Given the description of an element on the screen output the (x, y) to click on. 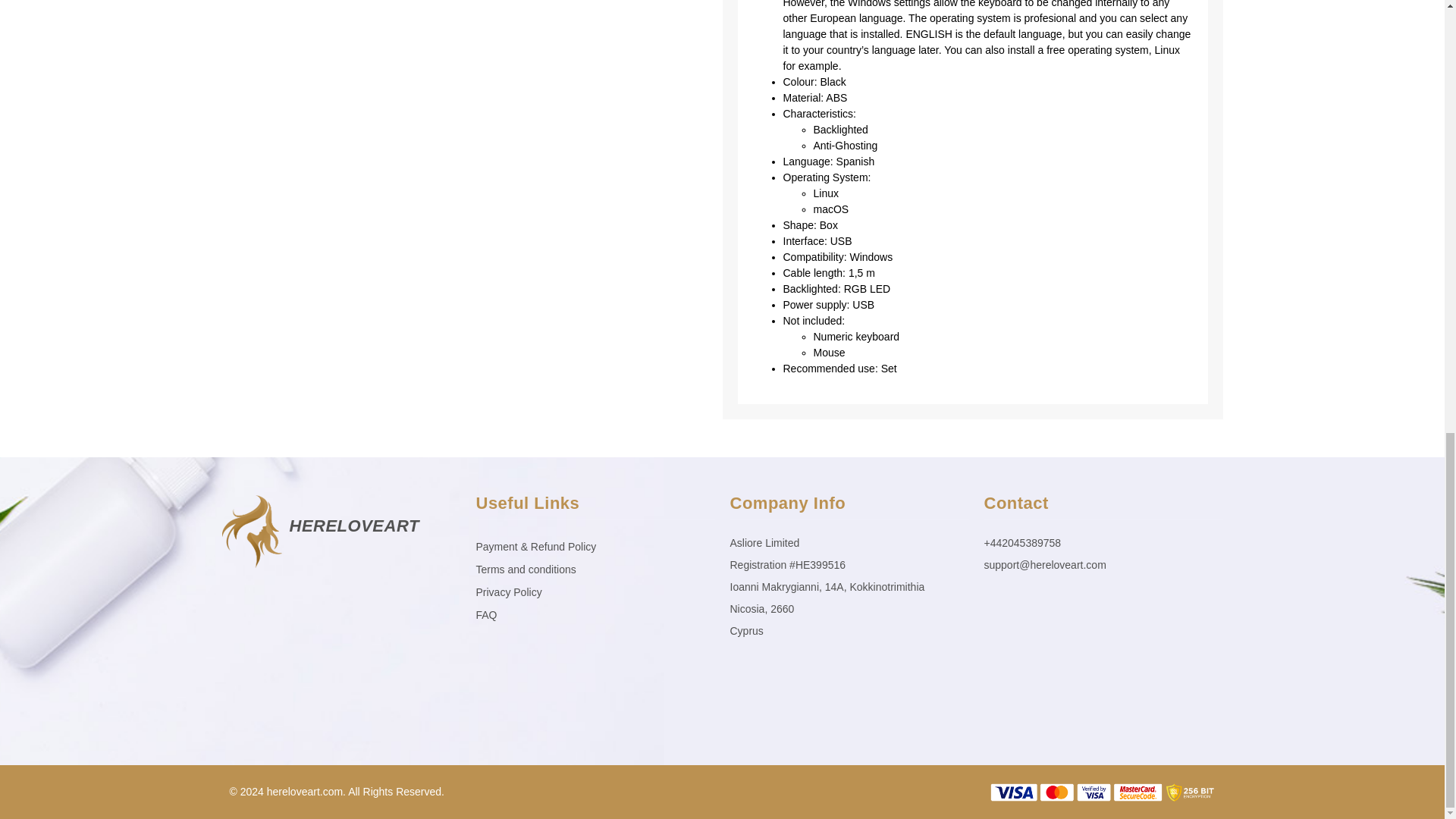
HERELOVEART (354, 525)
Terms and conditions (595, 568)
Privacy Policy (595, 591)
FAQ (595, 614)
